Given the description of an element on the screen output the (x, y) to click on. 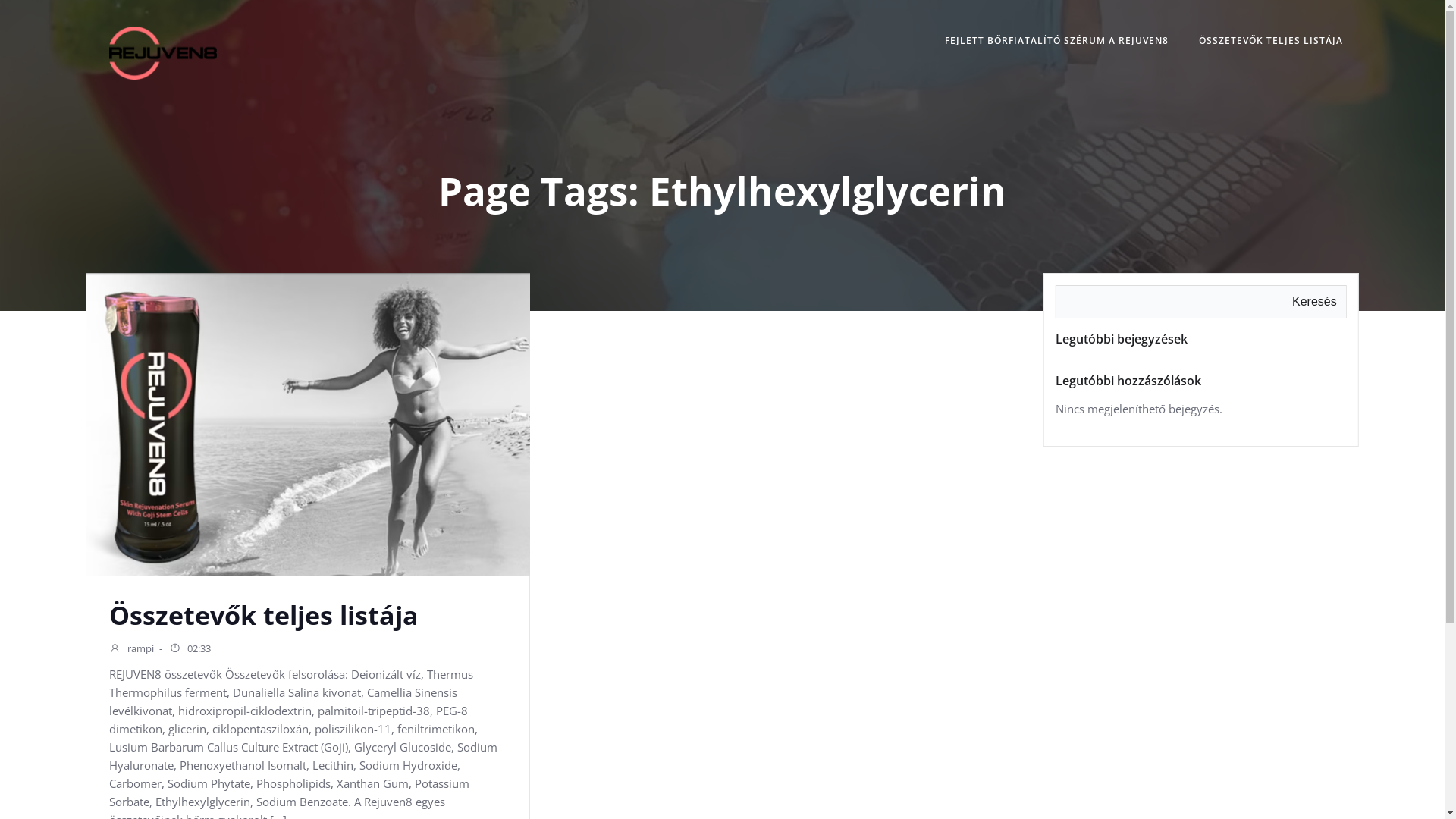
REJUVEN8 Independent Distributor Element type: text (505, 770)
Jogi nyilatkozat Element type: text (854, 770)
02:33 Element type: text (189, 649)
rampi Element type: text (131, 649)
